Given the description of an element on the screen output the (x, y) to click on. 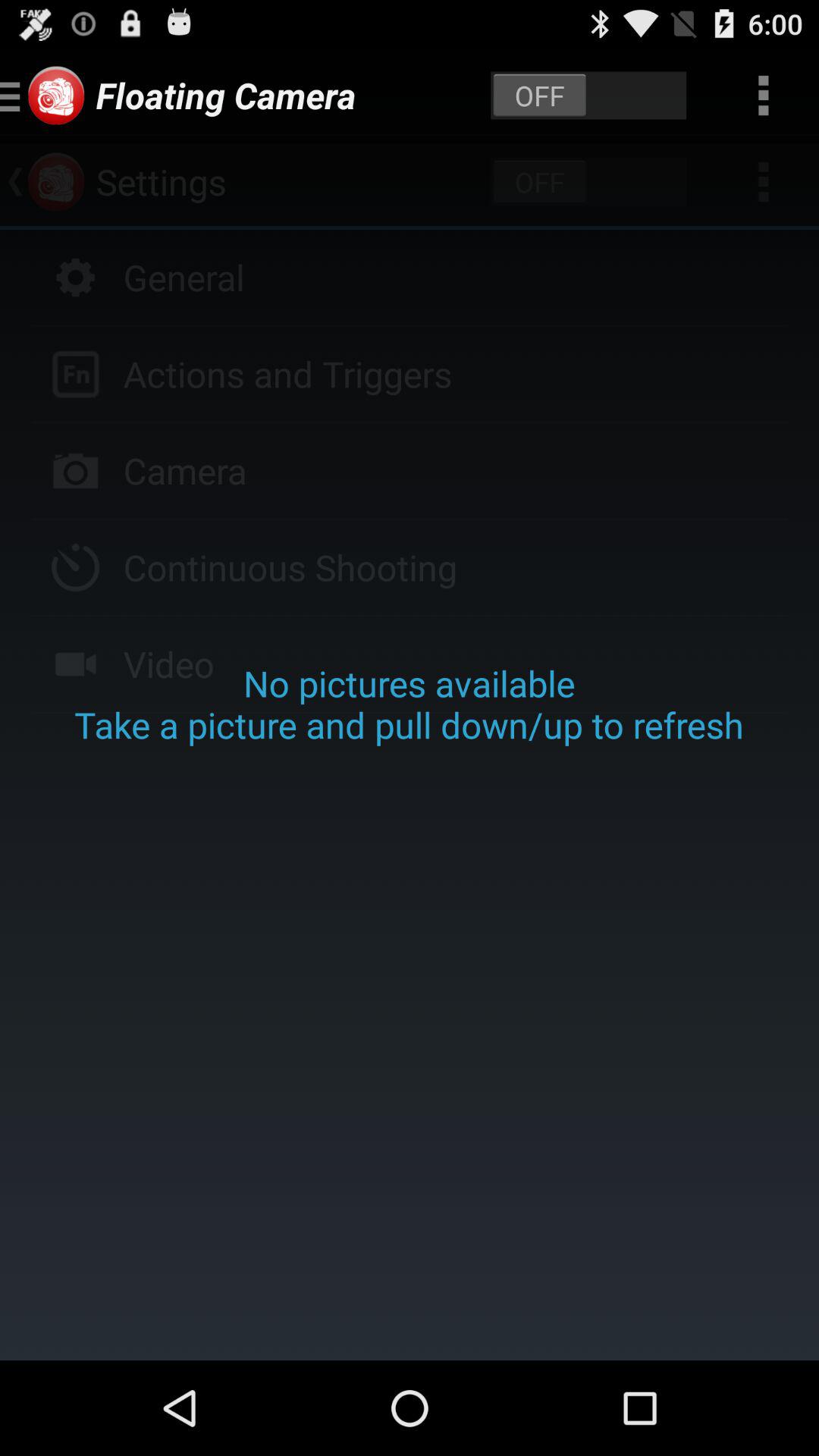
toggle camera on/off (588, 95)
